Given the description of an element on the screen output the (x, y) to click on. 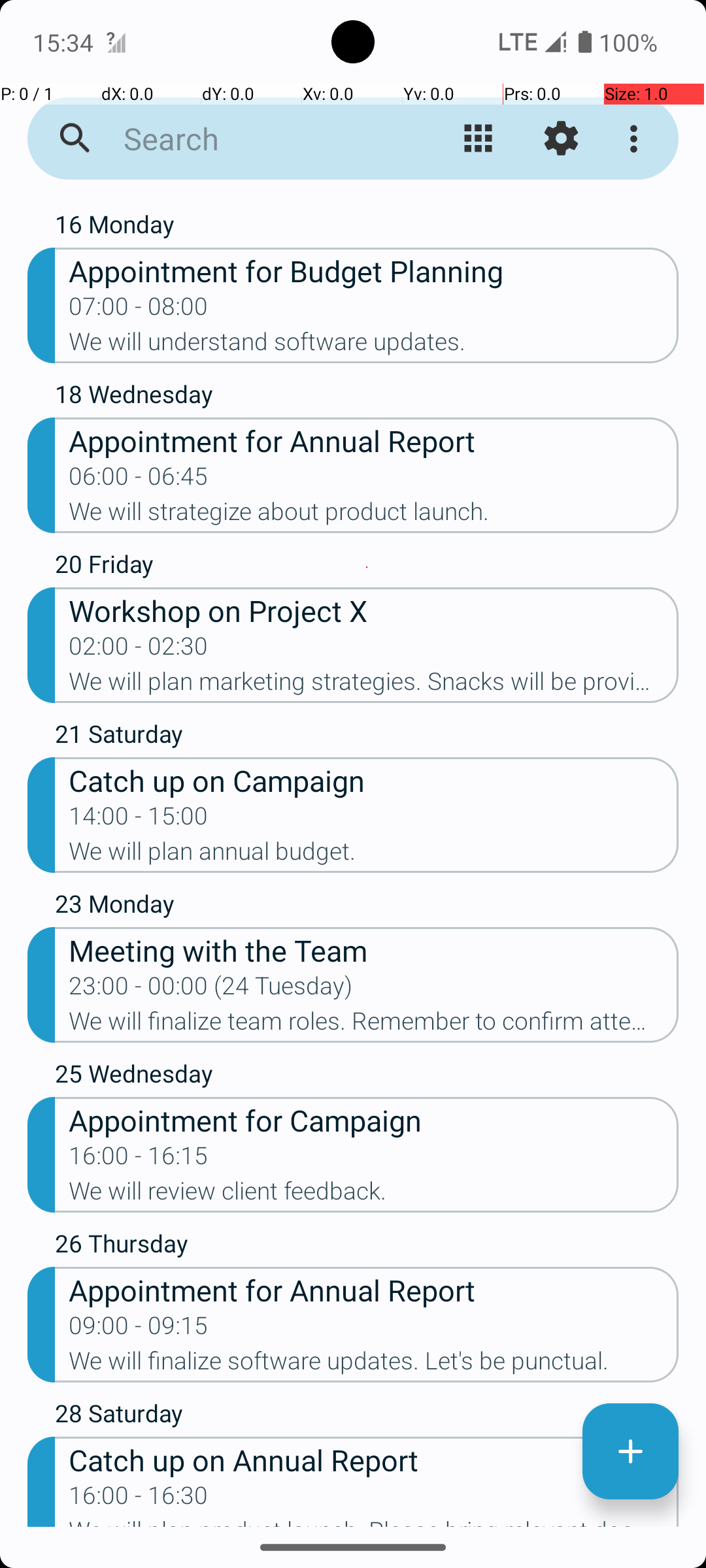
21 Saturday Element type: android.widget.TextView (366, 736)
23 Monday Element type: android.widget.TextView (366, 906)
25 Wednesday Element type: android.widget.TextView (366, 1076)
26 Thursday Element type: android.widget.TextView (366, 1246)
28 Saturday Element type: android.widget.TextView (366, 1416)
07:00 - 08:00 Element type: android.widget.TextView (137, 309)
We will understand software updates. Element type: android.widget.TextView (373, 345)
06:00 - 06:45 Element type: android.widget.TextView (137, 479)
We will strategize about product launch. Element type: android.widget.TextView (373, 515)
02:00 - 02:30 Element type: android.widget.TextView (137, 649)
We will plan marketing strategies. Snacks will be provided. Element type: android.widget.TextView (373, 684)
14:00 - 15:00 Element type: android.widget.TextView (137, 819)
We will plan annual budget. Element type: android.widget.TextView (373, 854)
23:00 - 00:00 (24 Tuesday) Element type: android.widget.TextView (210, 989)
We will finalize team roles. Remember to confirm attendance. Element type: android.widget.TextView (373, 1024)
16:00 - 16:15 Element type: android.widget.TextView (137, 1159)
We will review client feedback. Element type: android.widget.TextView (373, 1194)
09:00 - 09:15 Element type: android.widget.TextView (137, 1329)
We will finalize software updates. Let's be punctual. Element type: android.widget.TextView (373, 1364)
16:00 - 16:30 Element type: android.widget.TextView (137, 1499)
We will plan product launch. Please bring relevant documents. Element type: android.widget.TextView (373, 1521)
